Given the description of an element on the screen output the (x, y) to click on. 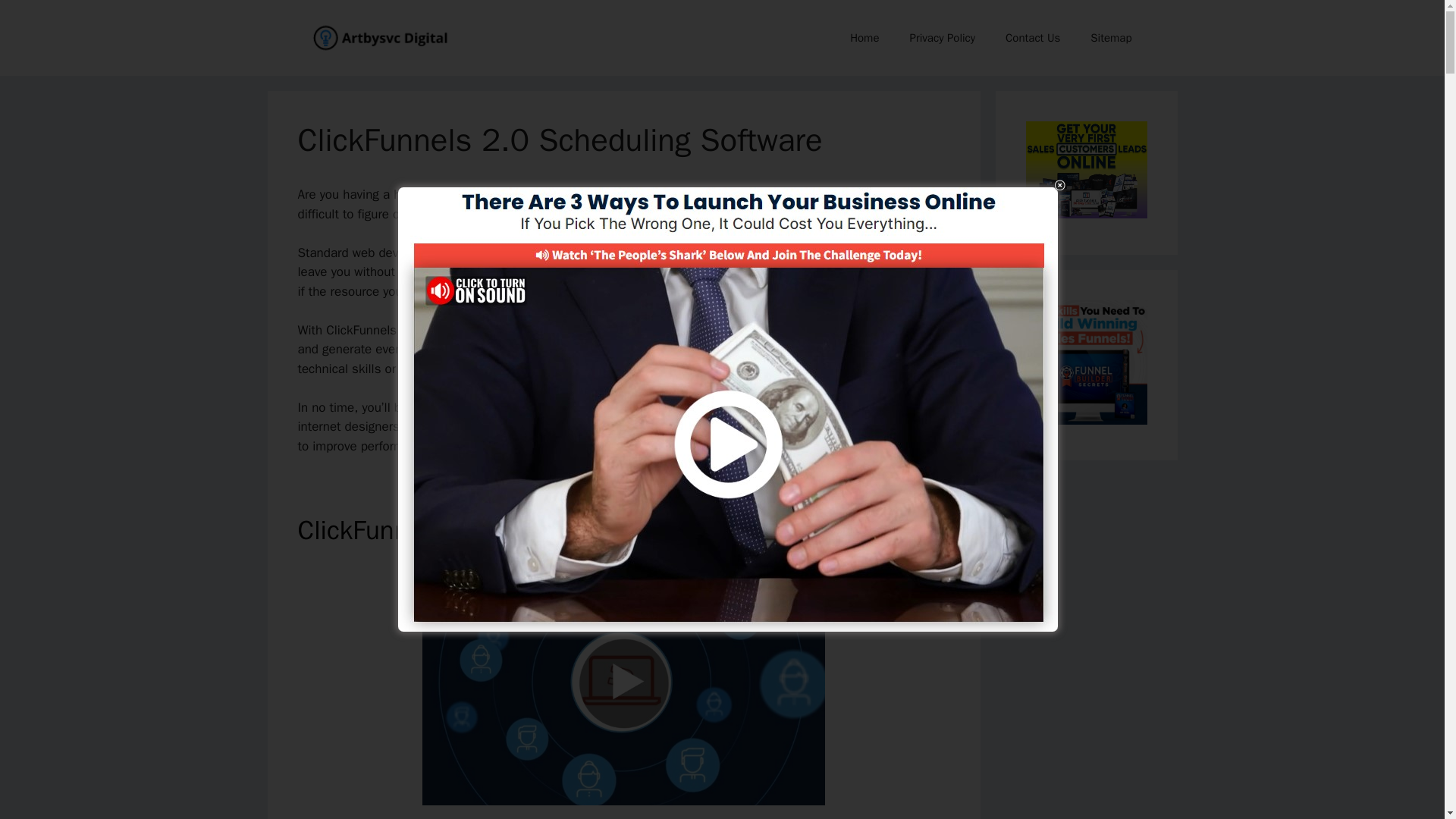
Sitemap (1111, 37)
Home (863, 37)
Contact Us (1032, 37)
Privacy Policy (941, 37)
